Given the description of an element on the screen output the (x, y) to click on. 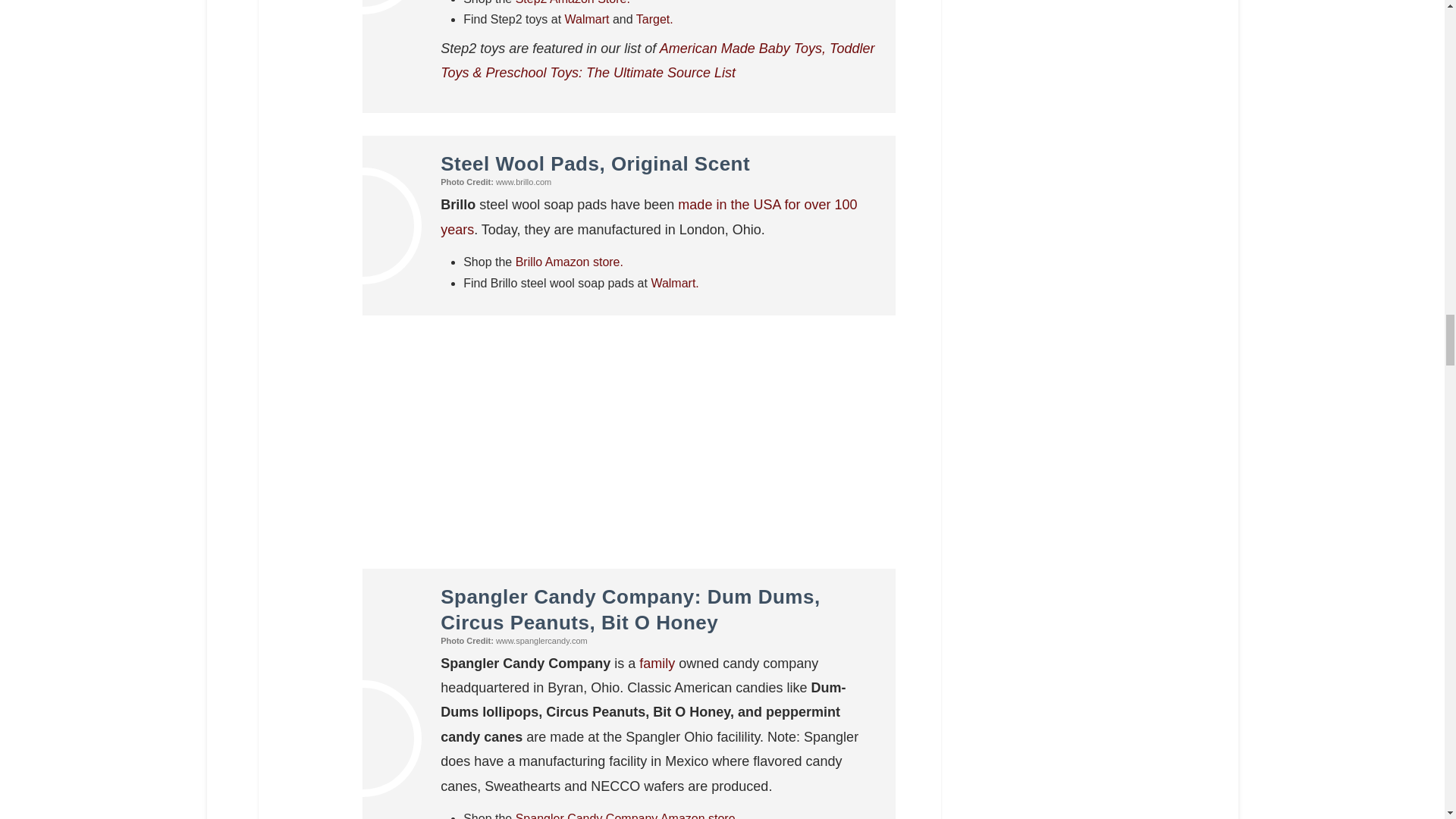
Family (657, 663)
